Given the description of an element on the screen output the (x, y) to click on. 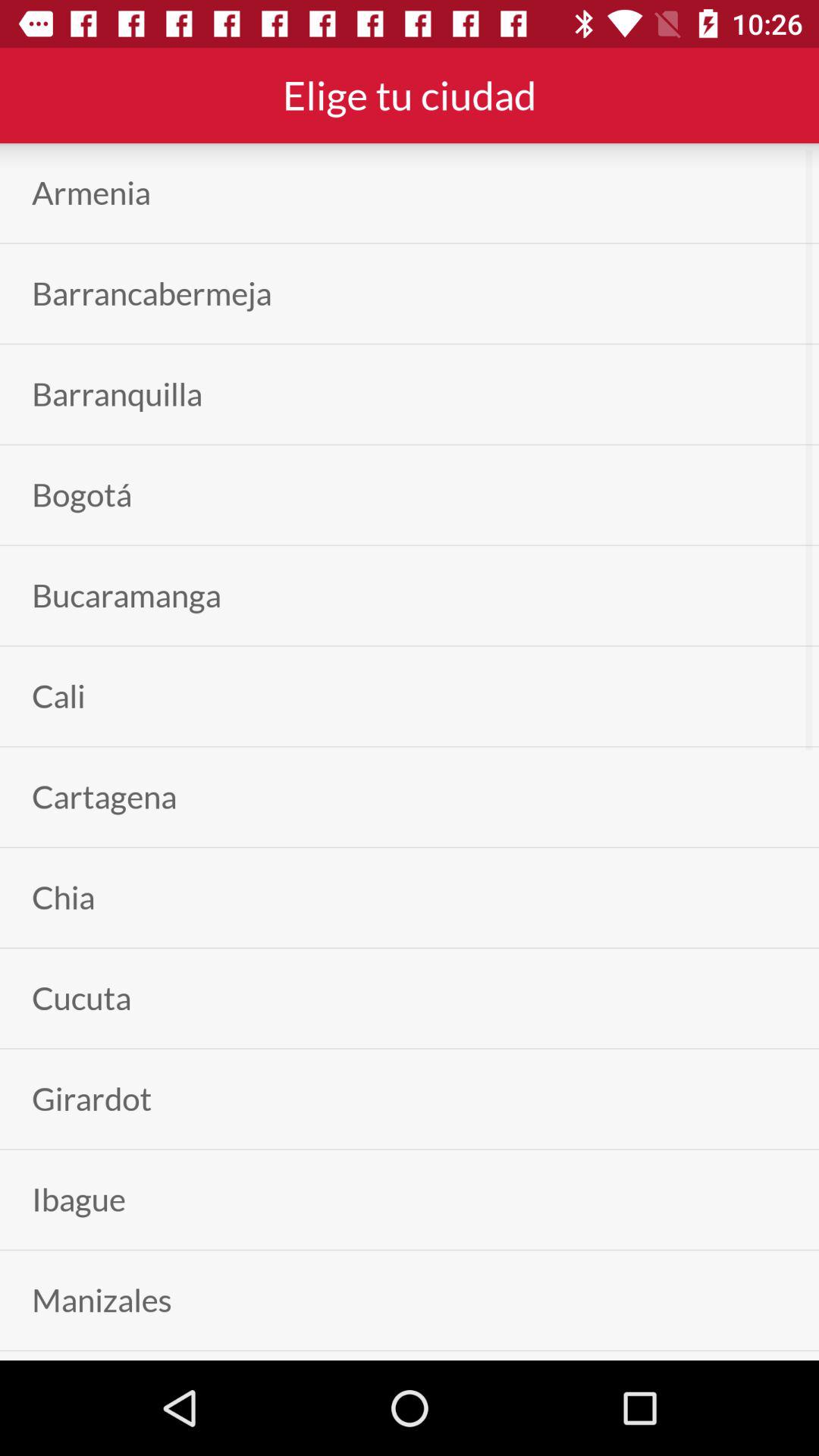
jump until the barranquilla app (116, 394)
